Given the description of an element on the screen output the (x, y) to click on. 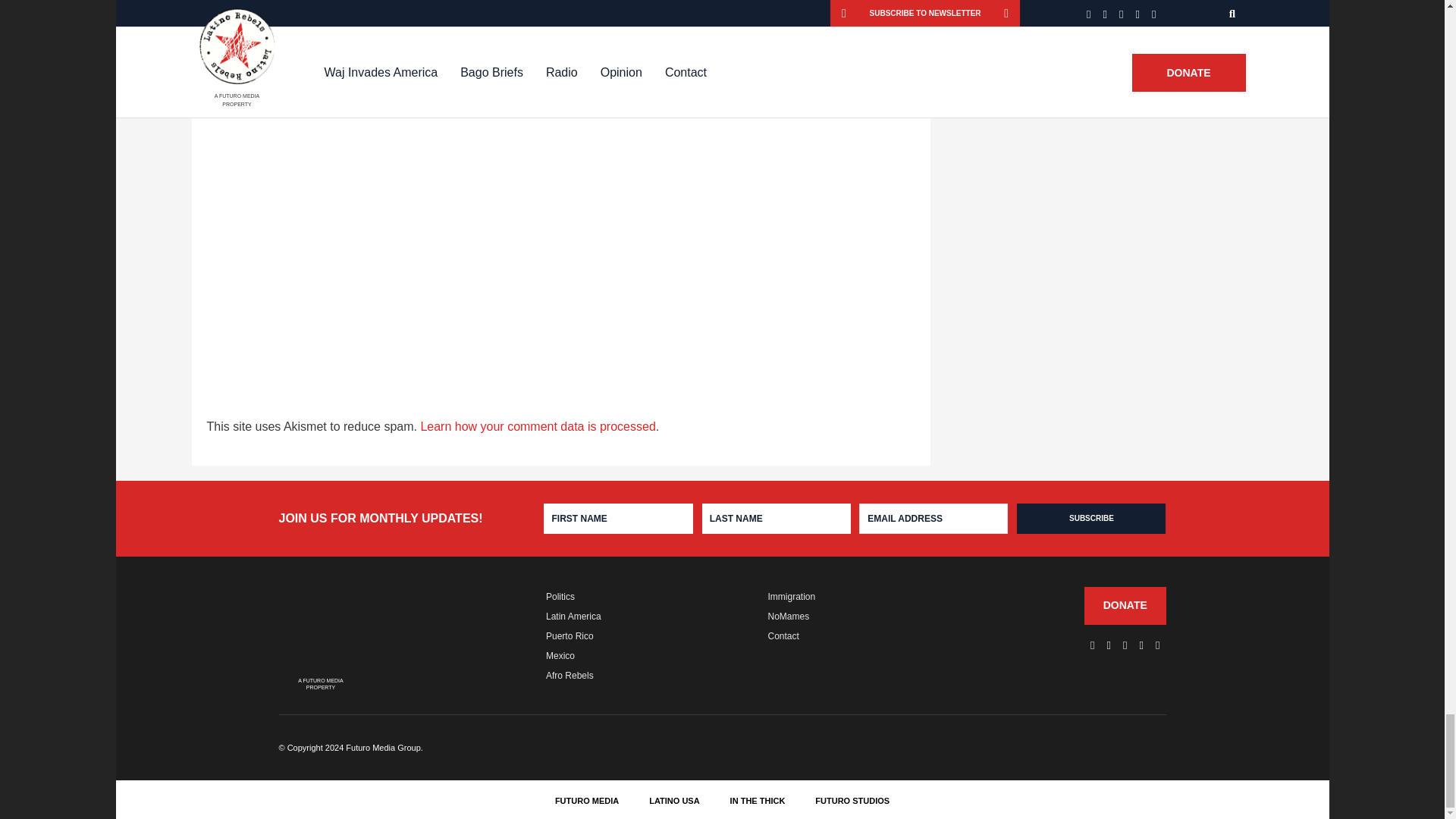
Subscribe (1091, 518)
